Given the description of an element on the screen output the (x, y) to click on. 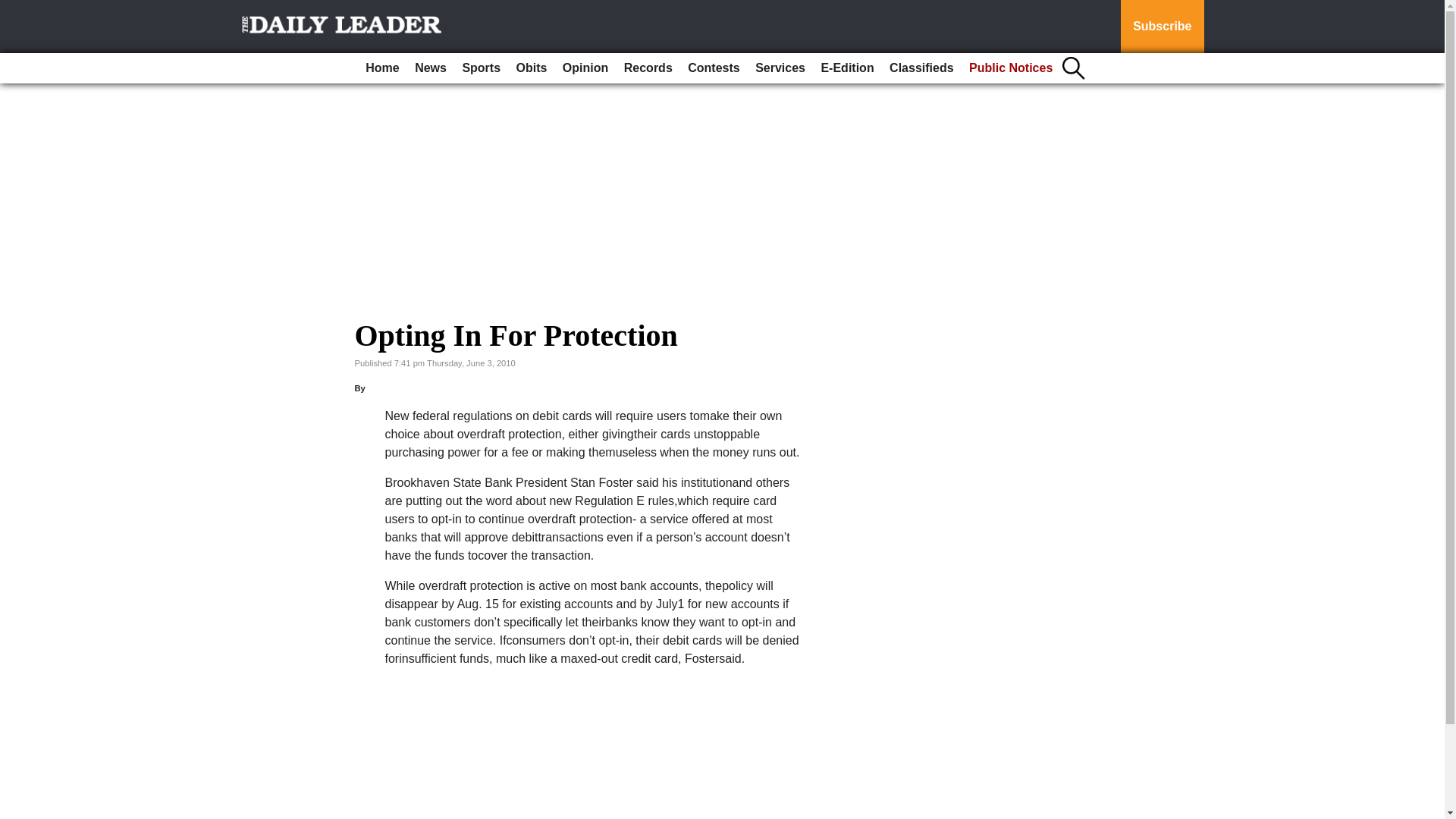
Records (647, 68)
Opinion (585, 68)
E-Edition (846, 68)
Sports (480, 68)
Home (381, 68)
Contests (713, 68)
Classifieds (921, 68)
Services (779, 68)
Obits (532, 68)
Go (13, 9)
